Given the description of an element on the screen output the (x, y) to click on. 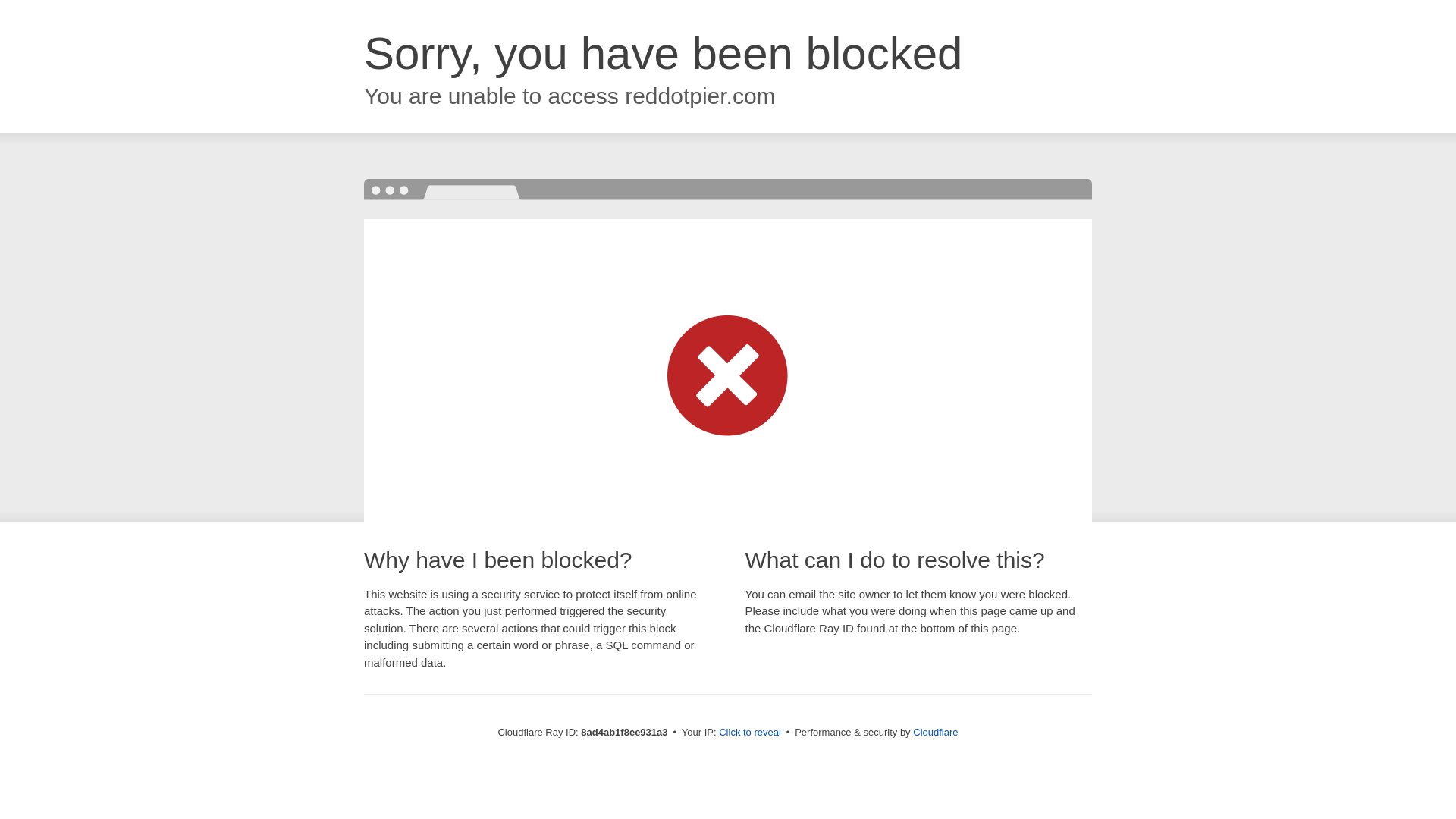
Click to reveal (749, 732)
Cloudflare (935, 731)
